Given the description of an element on the screen output the (x, y) to click on. 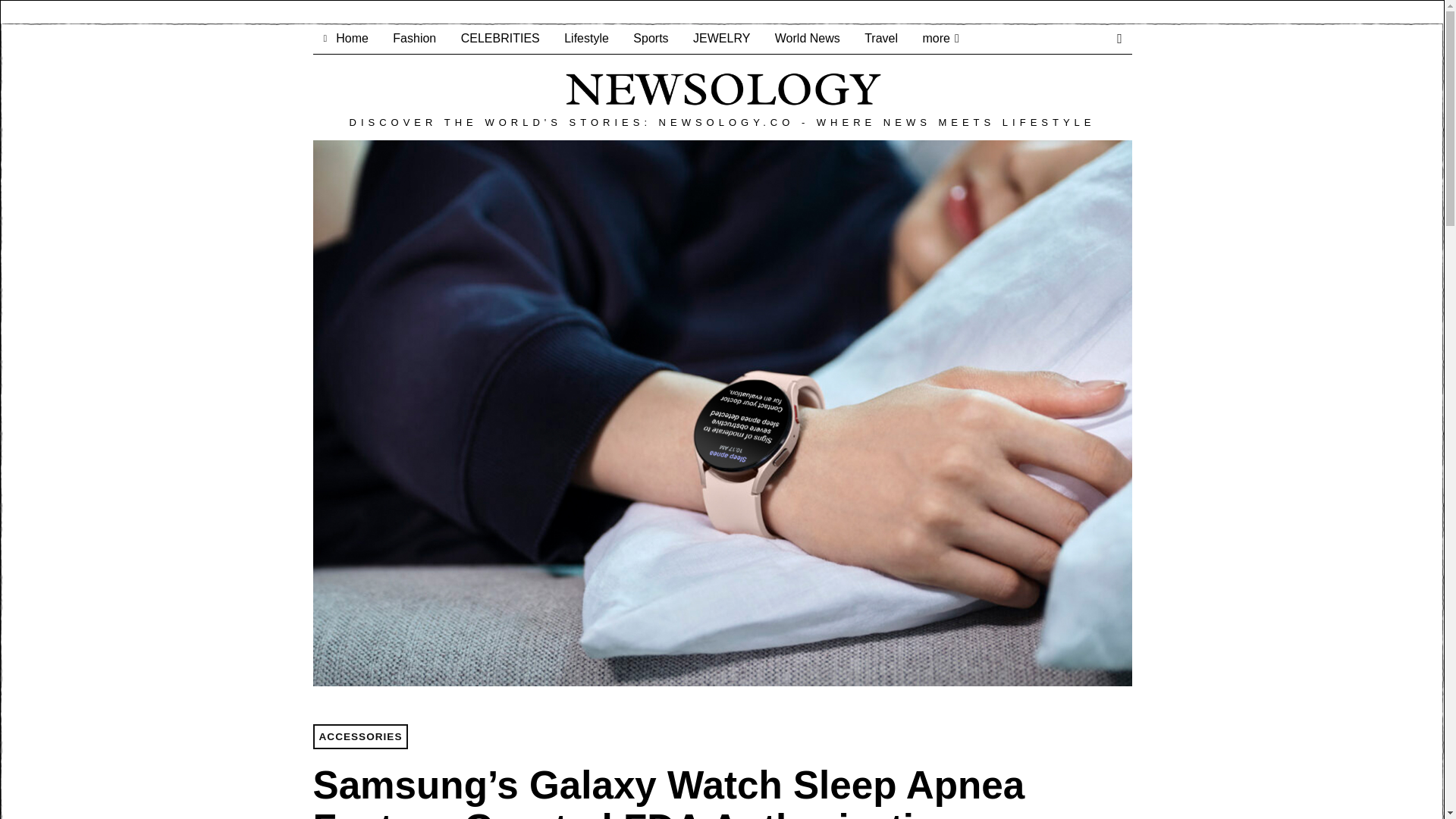
Fashion (413, 38)
CELEBRITIES (499, 38)
Travel (880, 38)
Sports (650, 38)
Lifestyle (586, 38)
Home (345, 38)
ACCESSORIES (360, 736)
more (940, 38)
World News (807, 38)
JEWELRY (721, 38)
